Given the description of an element on the screen output the (x, y) to click on. 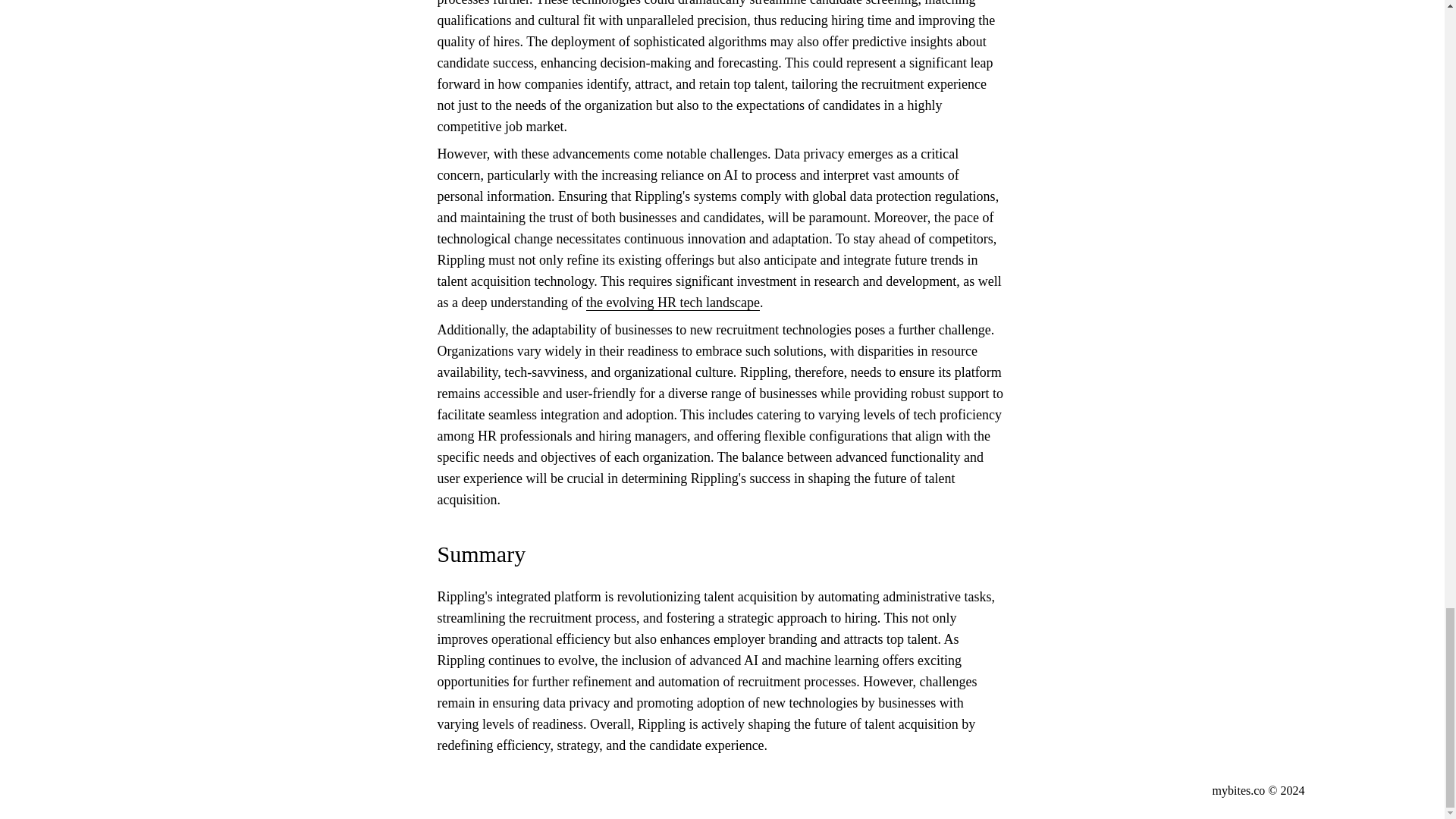
the evolving HR tech landscape (673, 302)
